Given the description of an element on the screen output the (x, y) to click on. 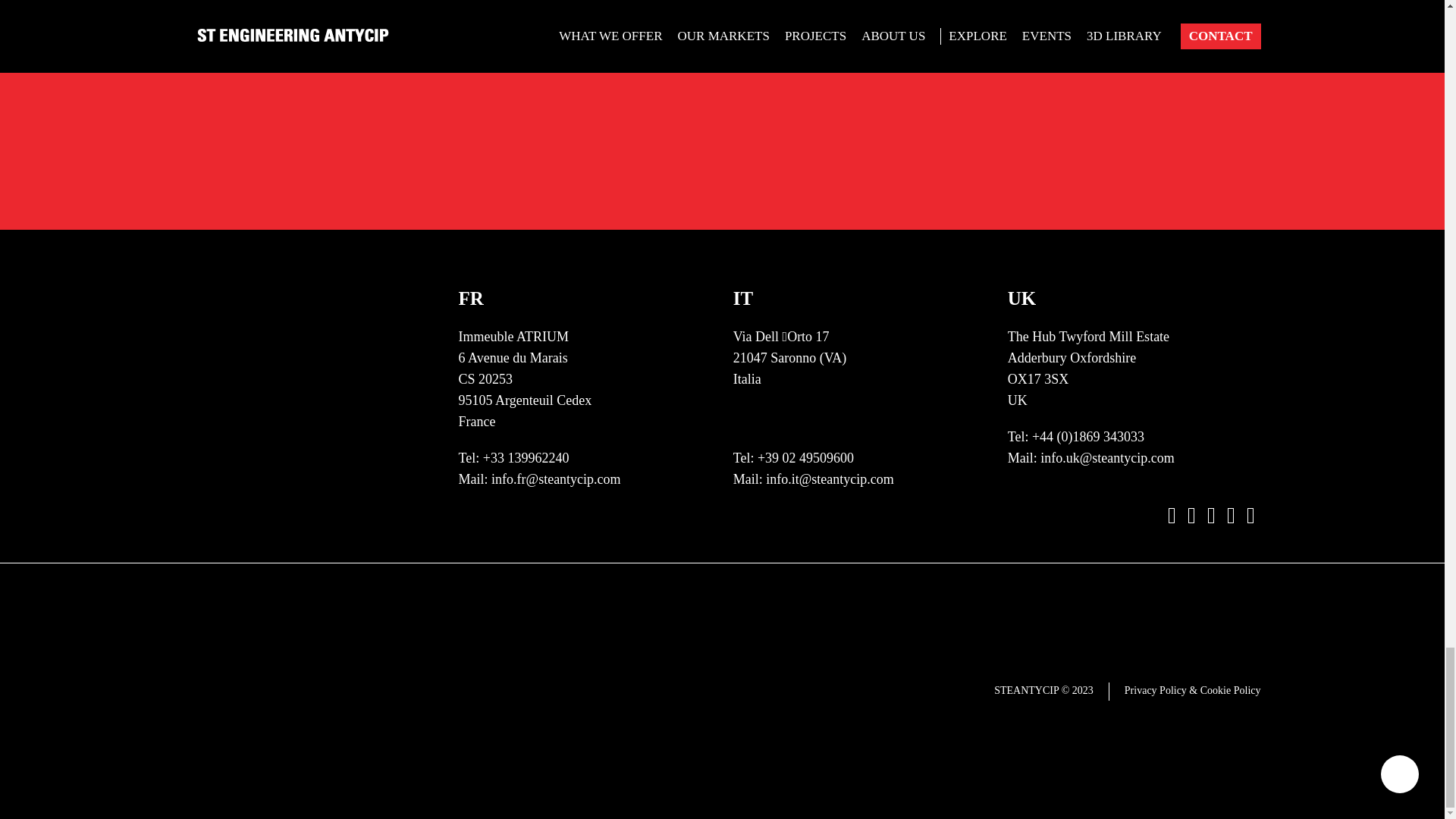
ScalableDisplayTechnologies Logo - Copy (859, 594)
logo-middlevr-web-white - Copy (648, 366)
logo techviz white no background (859, 215)
Digital-Projection-Logo-white no background (859, 745)
